Given the description of an element on the screen output the (x, y) to click on. 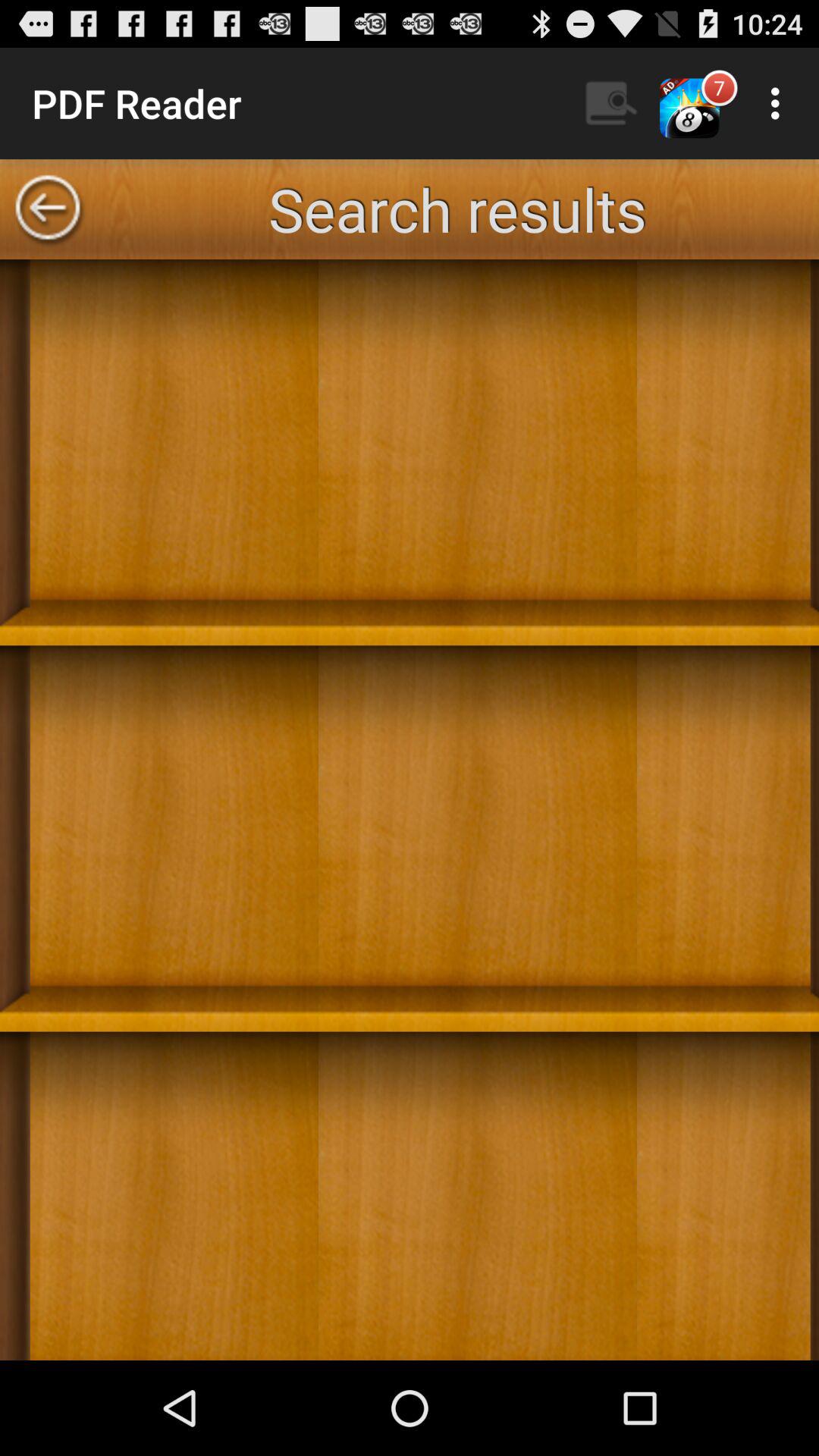
go back (47, 209)
